Given the description of an element on the screen output the (x, y) to click on. 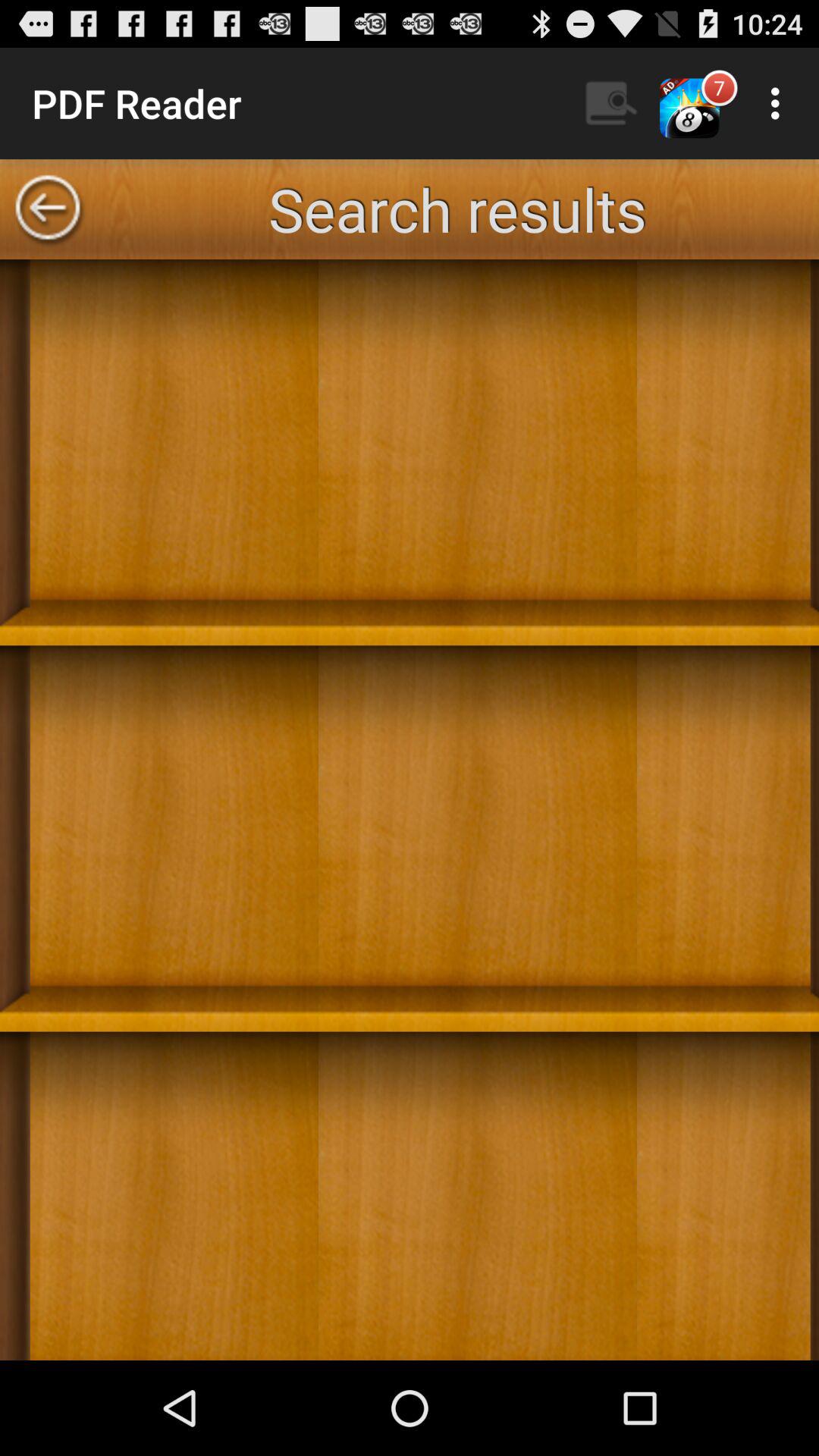
go back (47, 209)
